Given the description of an element on the screen output the (x, y) to click on. 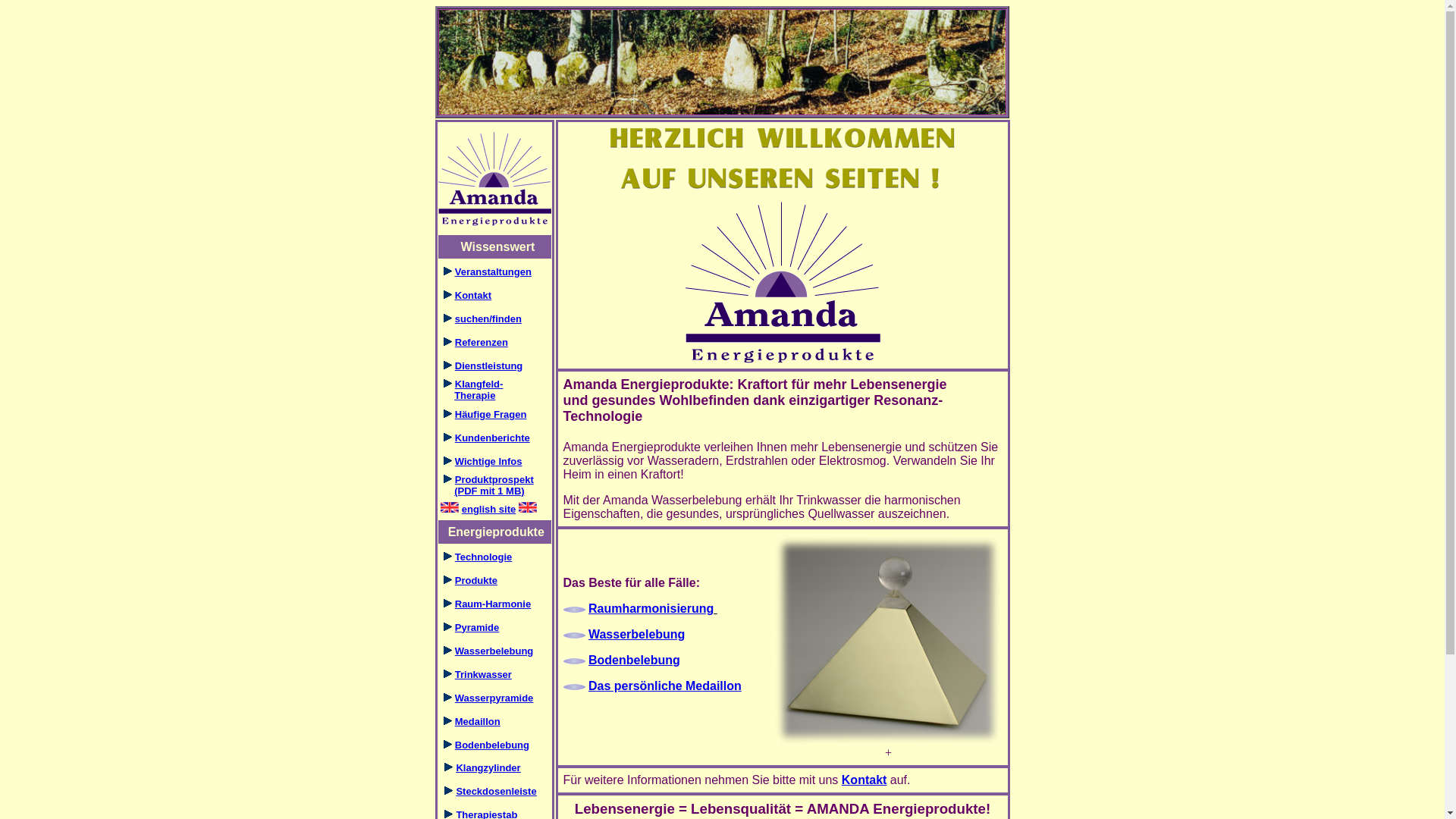
Wasserbelebung Element type: text (636, 633)
Medaillon Element type: text (477, 721)
Wasserpyramide Element type: text (494, 696)
Wasserbelebung Element type: text (494, 649)
Raum-Harmonie Element type: text (492, 602)
Wichtige Infos Element type: text (488, 460)
Kontakt Element type: text (864, 779)
Technologie Element type: text (483, 555)
Pyramide Element type: text (477, 627)
Bodenbelebung Element type: text (492, 743)
Veranstaltungen Element type: text (493, 270)
Referenzen Element type: text (481, 342)
Dienstleistung Element type: text (489, 364)
Klangfeld-
      Therapie Element type: text (470, 389)
Klangzylinder Element type: text (487, 767)
Trinkwasser Element type: text (483, 674)
suchen/finden Element type: text (488, 317)
Steckdosenleiste Element type: text (495, 791)
english site Element type: text (488, 508)
Bodenbelebung Element type: text (634, 659)
Kontakt Element type: text (473, 295)
Kundenberichte Element type: text (492, 437)
+ Element type: text (888, 747)
Produktprospekt
      (PDF mit 1 MB) Element type: text (485, 484)
Raumharmonisierung Element type: text (650, 608)
Produkte Element type: text (476, 580)
